Given the description of an element on the screen output the (x, y) to click on. 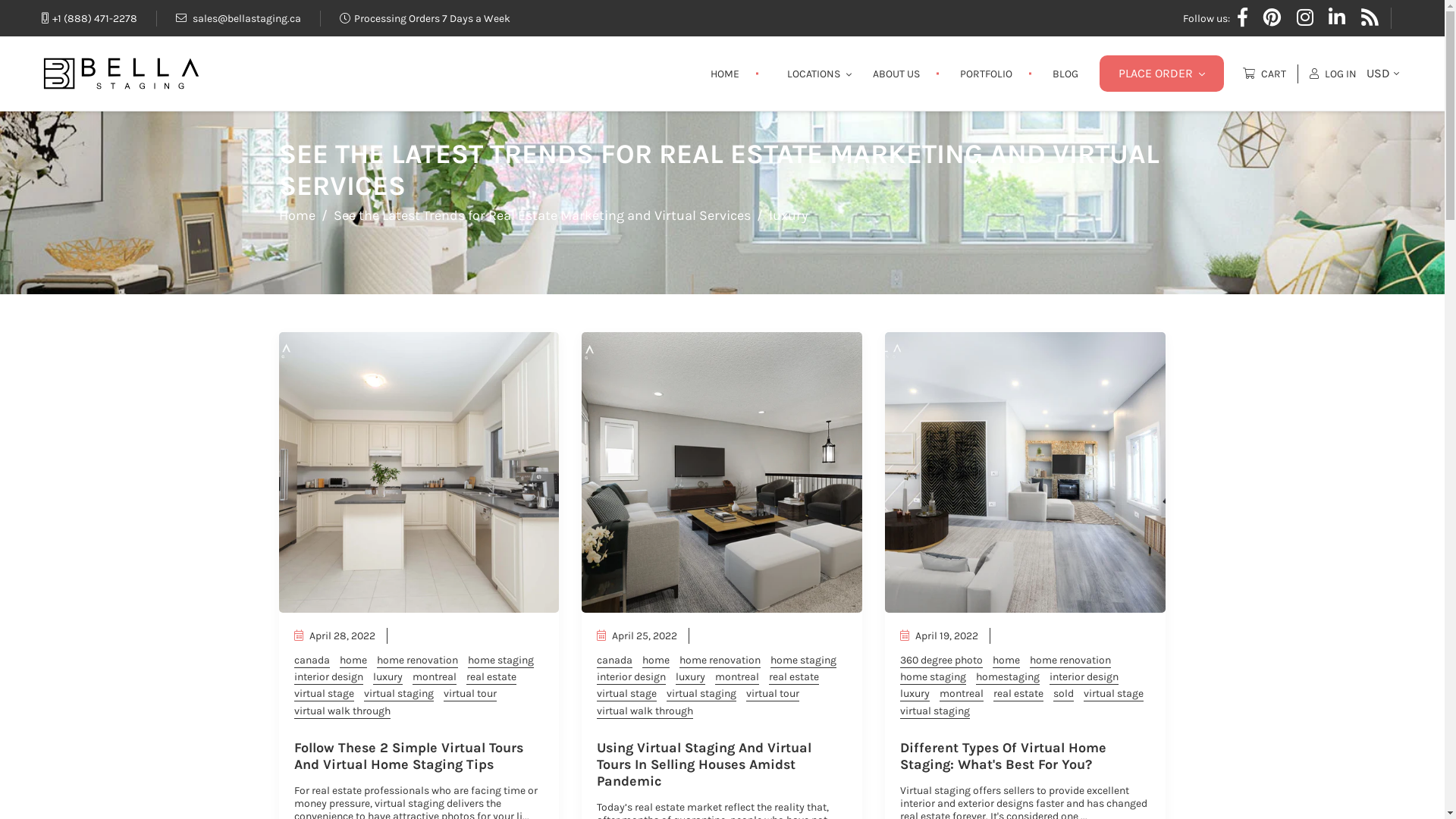
montreal Element type: text (434, 677)
home Element type: text (353, 660)
home renovation Element type: text (416, 660)
Instagram Element type: text (1304, 17)
Home Element type: text (297, 215)
real estate Element type: text (1018, 694)
luxury Element type: text (387, 677)
ABOUT US Element type: text (895, 73)
360 degree photo Element type: text (941, 660)
virtual staging Element type: text (701, 694)
BLOG Element type: text (1065, 73)
real estate Element type: text (793, 677)
home staging Element type: text (933, 677)
home Element type: text (655, 660)
LOG IN Element type: text (1332, 72)
+1 (888) 471-2278 Element type: text (89, 18)
virtual stage Element type: text (626, 694)
interior design Element type: text (328, 677)
virtual staging Element type: text (398, 694)
luxury Element type: text (690, 677)
Pinterest Element type: text (1271, 16)
RSS Element type: text (1369, 16)
montreal Element type: text (961, 694)
CART Element type: text (1270, 72)
interior design Element type: text (1083, 677)
PORTFOLIO Element type: text (986, 73)
canada Element type: text (311, 660)
virtual walk through Element type: text (342, 711)
home renovation Element type: text (1069, 660)
montreal Element type: text (737, 677)
virtual stage Element type: text (1113, 694)
sales@bellastaging.ca Element type: text (238, 18)
interior design Element type: text (630, 677)
Facebook Element type: text (1242, 17)
canada Element type: text (614, 660)
real estate Element type: text (490, 677)
homestaging Element type: text (1007, 677)
virtual stage Element type: text (324, 694)
home staging Element type: text (803, 660)
luxury Element type: text (914, 694)
home renovation Element type: text (719, 660)
virtual walk through Element type: text (644, 711)
home Element type: text (1005, 660)
sold Element type: text (1063, 694)
HOME Element type: text (724, 73)
home staging Element type: text (500, 660)
virtual tour Element type: text (772, 694)
virtual tour Element type: text (468, 694)
virtual staging Element type: text (934, 711)
linkdin Element type: text (1336, 17)
